Given the description of an element on the screen output the (x, y) to click on. 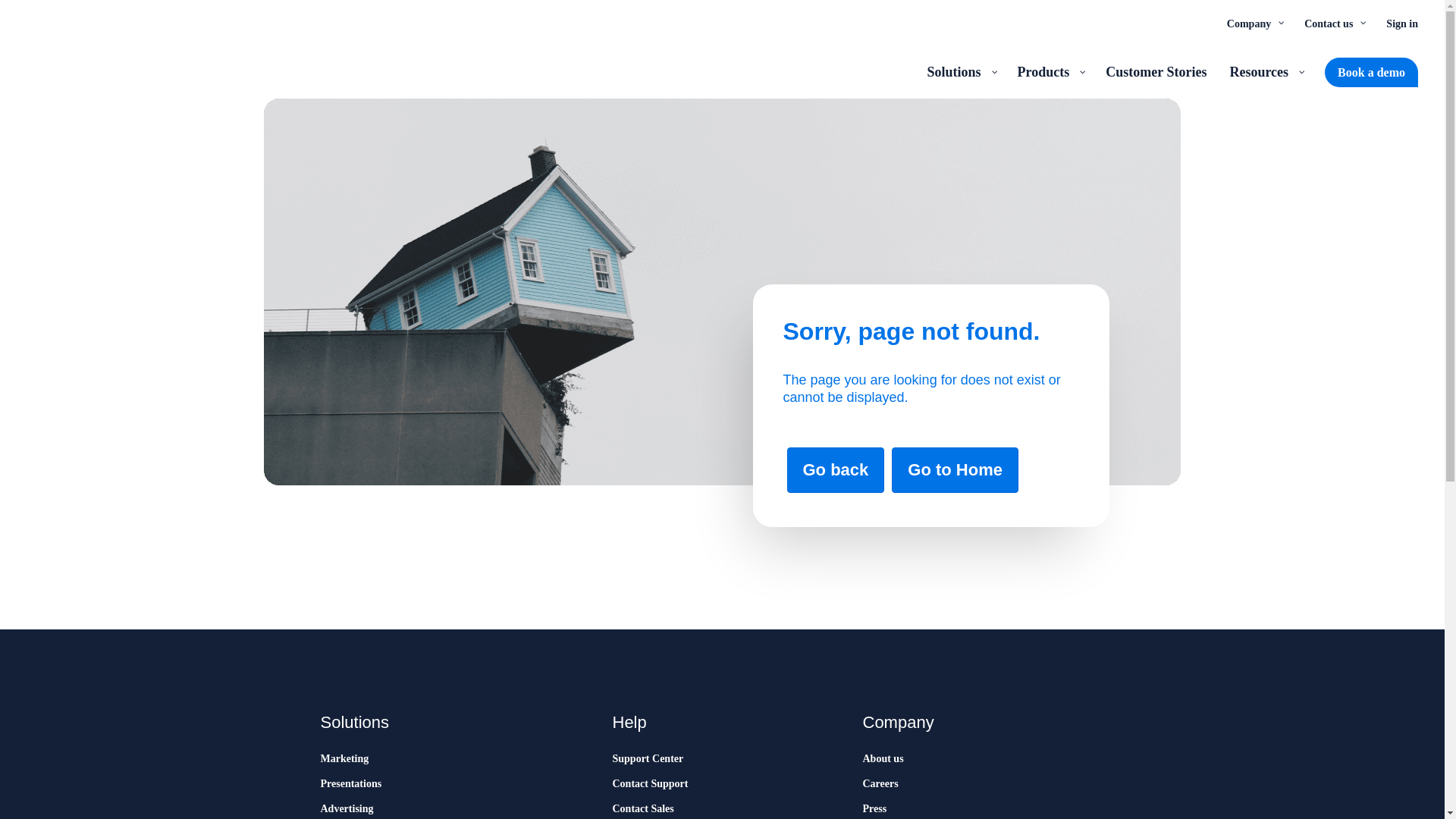
Company (1253, 22)
Contact us (1333, 22)
Sign in (1401, 22)
Solutions (960, 72)
Products (1050, 72)
